Given the description of an element on the screen output the (x, y) to click on. 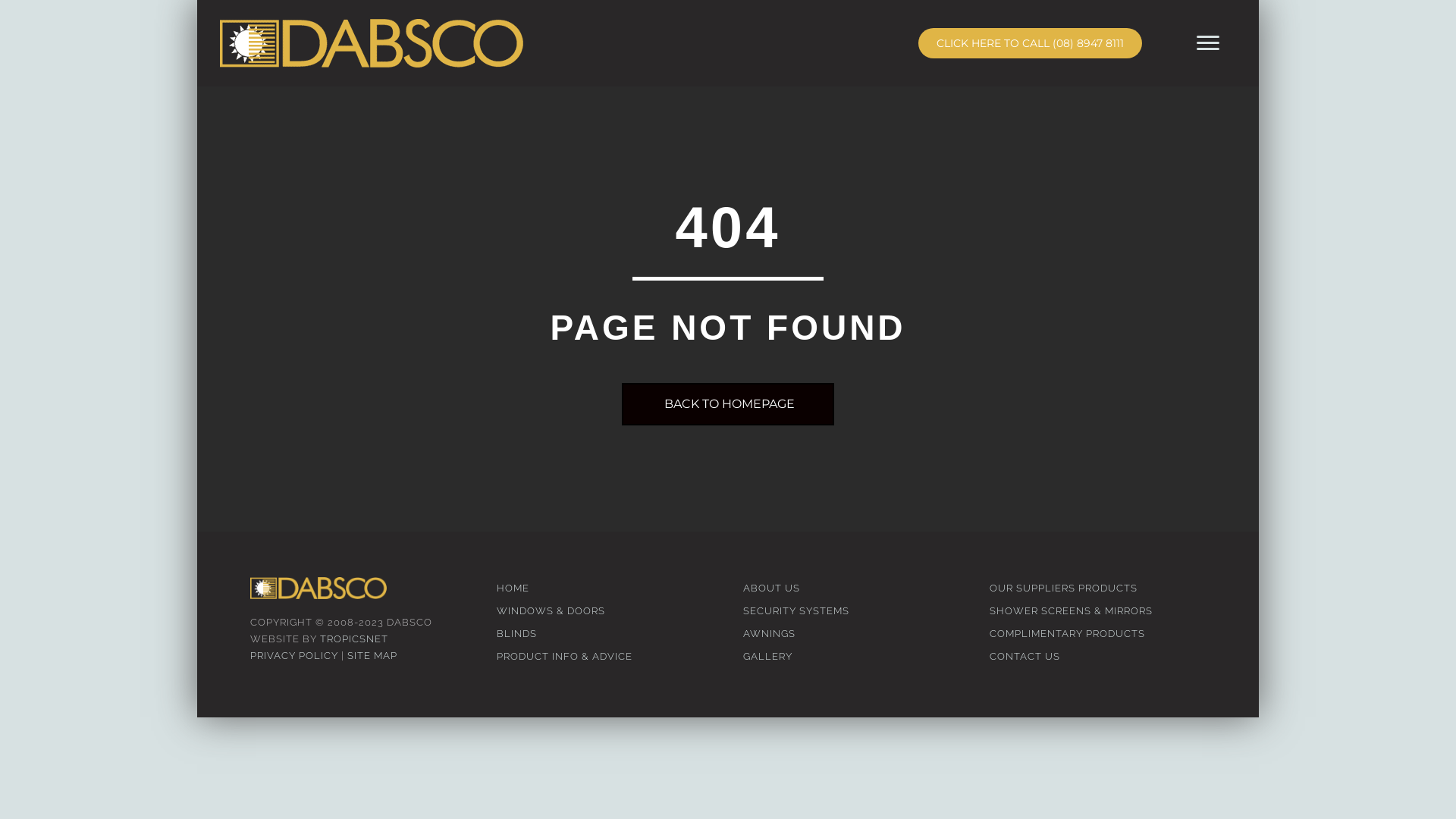
TROPICSNET Element type: text (354, 638)
PRIVACY POLICY Element type: text (294, 655)
GALLERY Element type: text (851, 656)
SITE MAP Element type: text (372, 655)
SHOWER SCREENS & MIRRORS Element type: text (1097, 610)
PRODUCT INFO & ADVICE Element type: text (604, 656)
OUR SUPPLIERS PRODUCTS Element type: text (1097, 588)
HOME Element type: text (604, 588)
logo Element type: hover (371, 42)
COMPLIMENTARY PRODUCTS Element type: text (1097, 633)
ABOUT US Element type: text (851, 588)
CONTACT US Element type: text (1097, 656)
WINDOWS & DOORS Element type: text (604, 610)
AWNINGS Element type: text (851, 633)
CLICK HERE TO CALL (08) 8947 8111 Element type: text (1030, 43)
BACK TO HOMEPAGE Element type: text (727, 404)
SECURITY SYSTEMS Element type: text (851, 610)
logo Element type: hover (318, 588)
BLINDS Element type: text (604, 633)
